Given the description of an element on the screen output the (x, y) to click on. 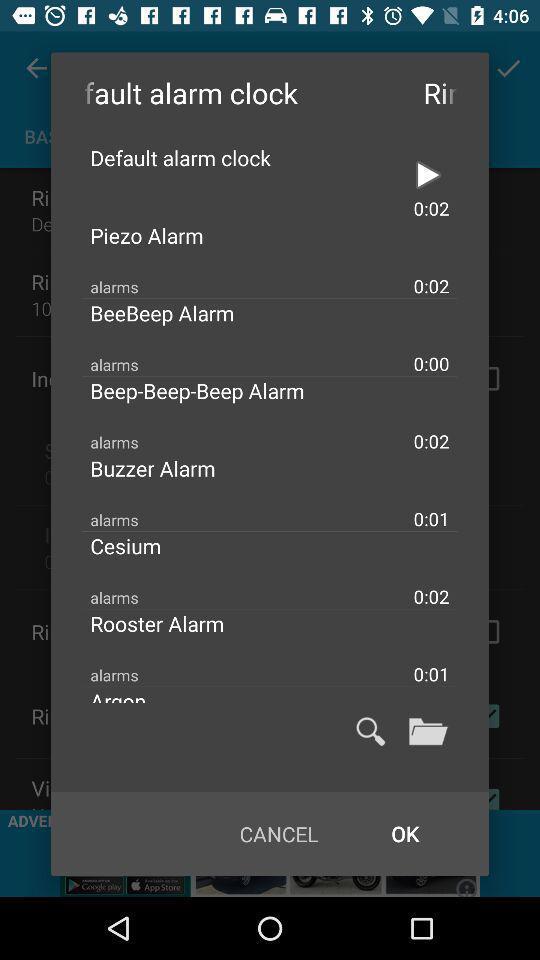
alarm setting (428, 175)
